Given the description of an element on the screen output the (x, y) to click on. 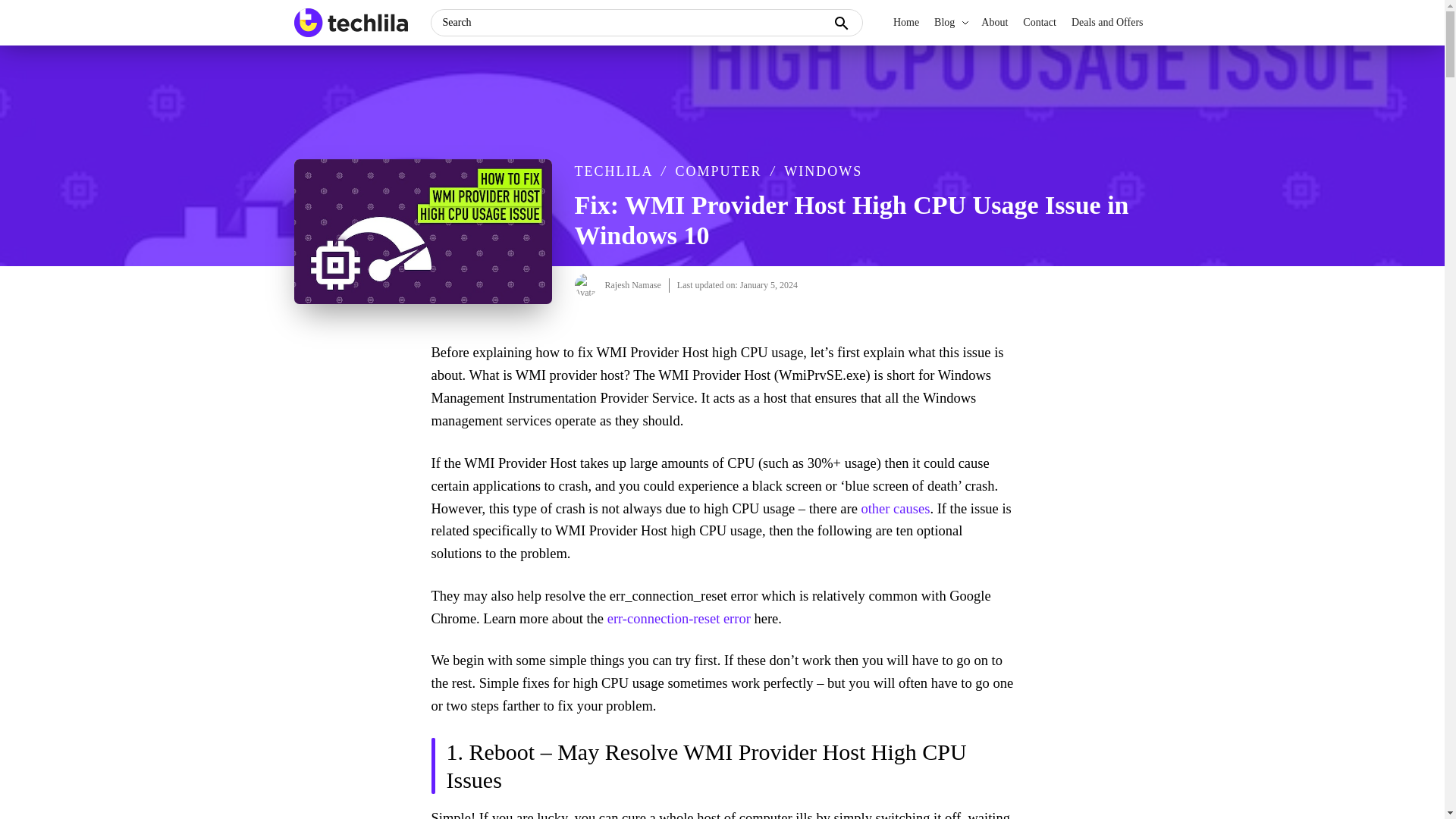
About (994, 22)
TECHLILA (613, 171)
Home (905, 22)
Avatar of Rajesh Namase (585, 284)
TechLila Logo (350, 22)
Deals and Offers (1107, 22)
About (994, 22)
Fix: WMI Provider Host High CPU Usage Issue in Windows 10 (422, 230)
err-connection-reset error (679, 618)
Contact (1039, 22)
Contact Us (1039, 22)
Rajesh Namase (633, 285)
other causes (895, 508)
TechLila (356, 37)
COMPUTER (718, 171)
